Given the description of an element on the screen output the (x, y) to click on. 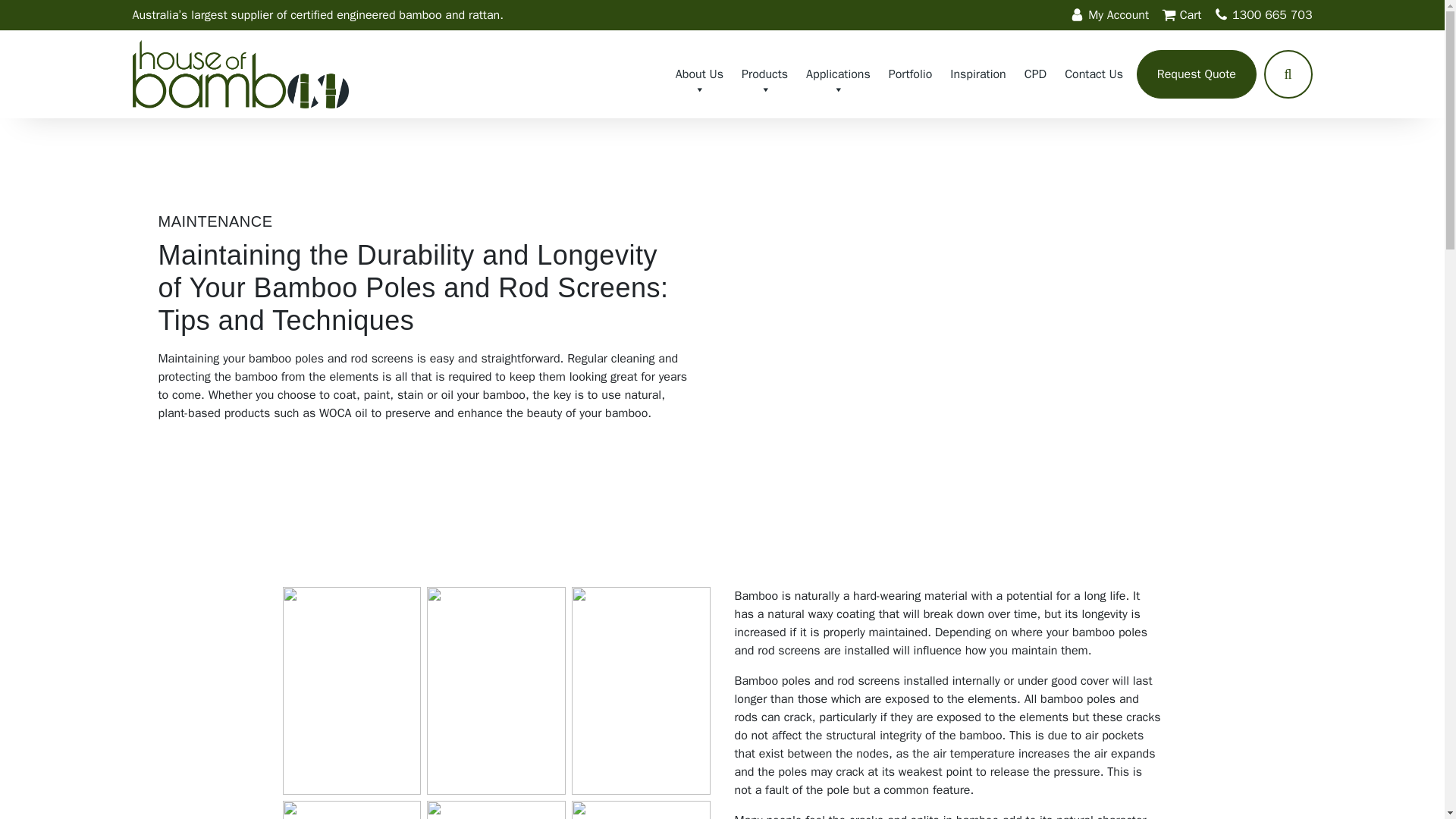
Products (764, 73)
user My Account (1111, 14)
phone 1300 665 703 (1262, 14)
shopping-cart (1168, 14)
Applications (837, 73)
phone (1221, 14)
shopping-cart Cart (1183, 14)
About Us (699, 73)
user (1077, 14)
